Given the description of an element on the screen output the (x, y) to click on. 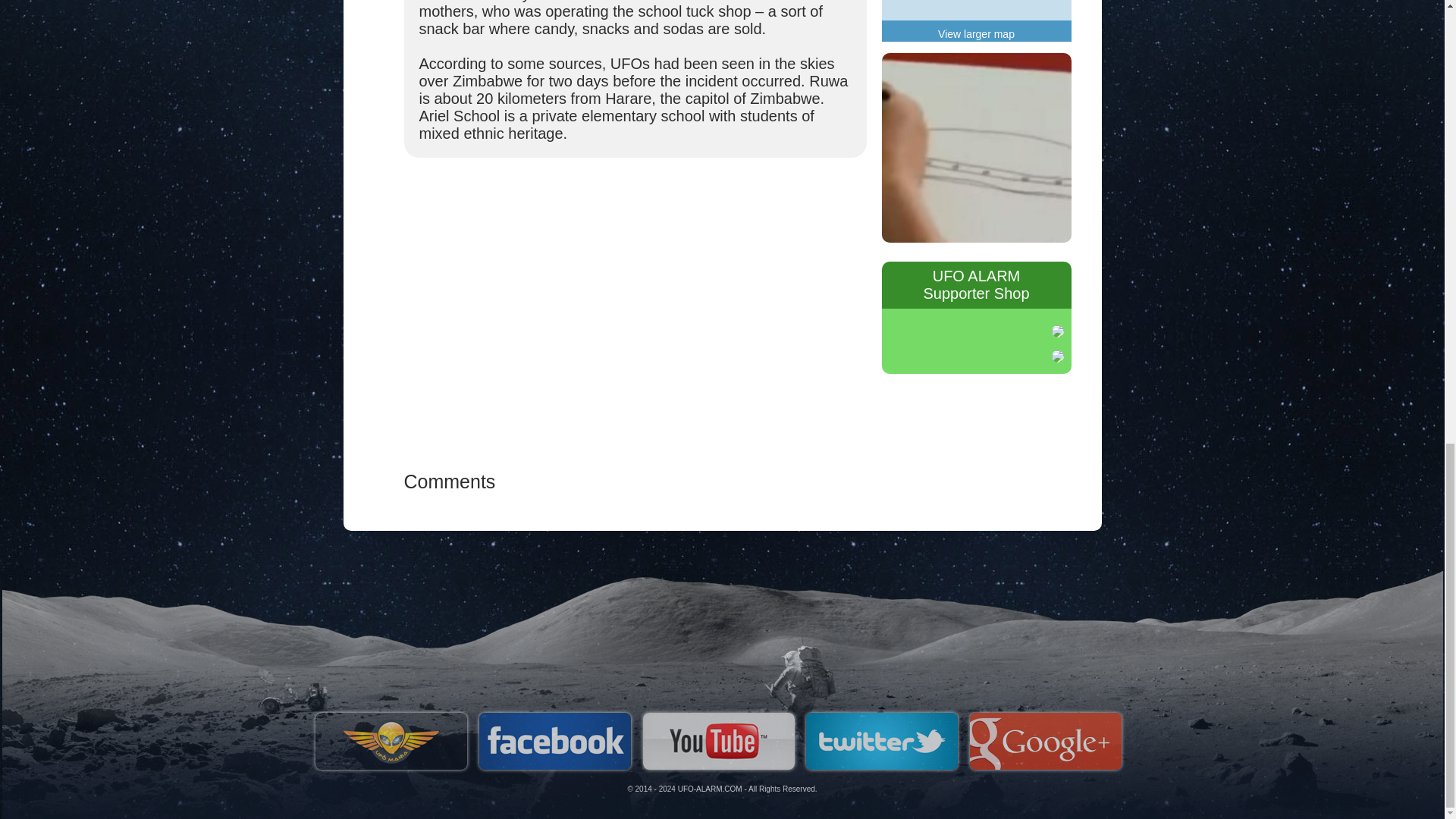
View larger map (975, 33)
